Given the description of an element on the screen output the (x, y) to click on. 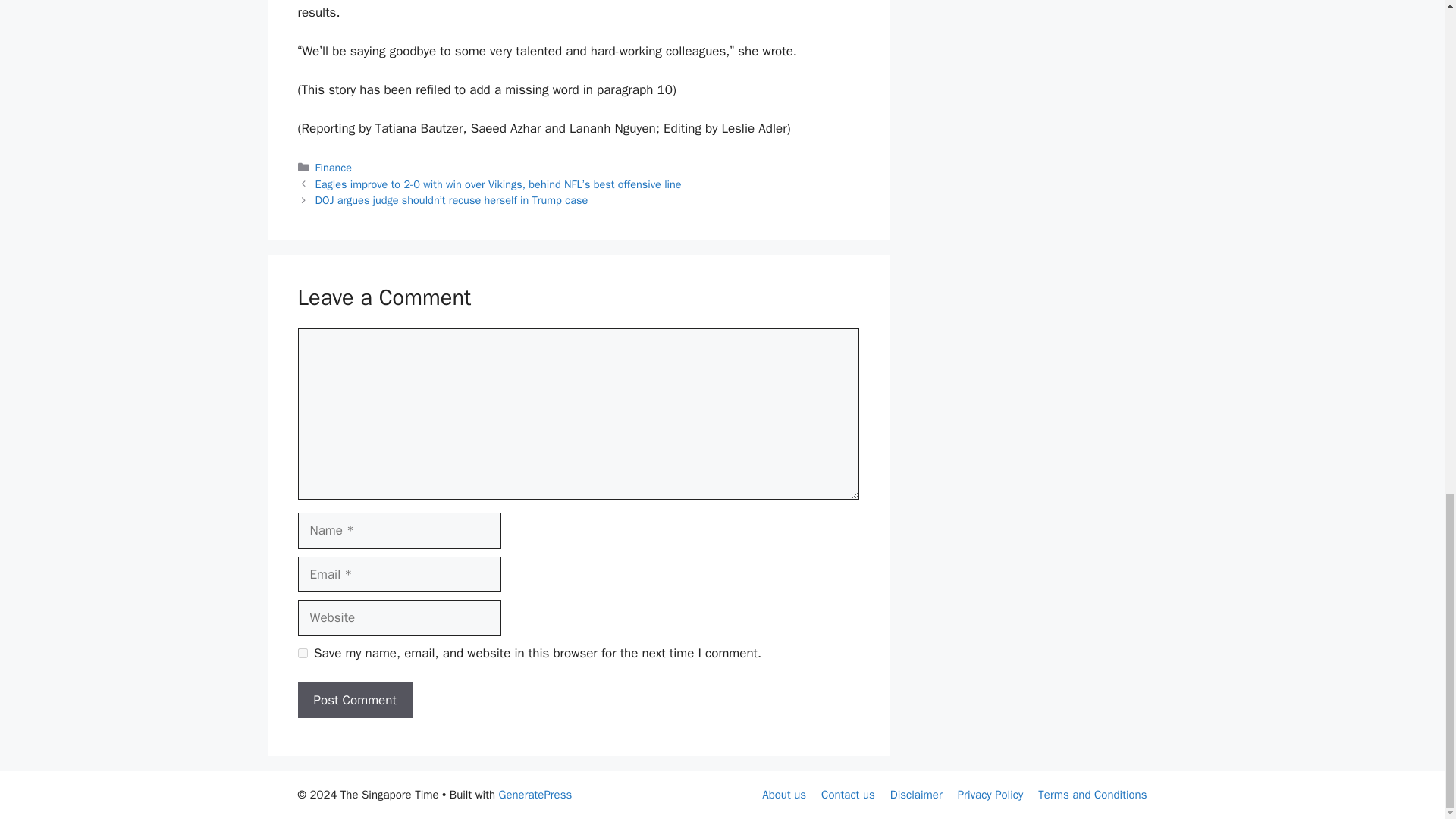
Post Comment (354, 700)
yes (302, 653)
Contact us (848, 794)
Post Comment (354, 700)
Scroll back to top (1406, 283)
About us (783, 794)
Terms and Conditions (1092, 794)
Finance (333, 167)
Privacy Policy (990, 794)
GeneratePress (535, 794)
Disclaimer (915, 794)
